Given the description of an element on the screen output the (x, y) to click on. 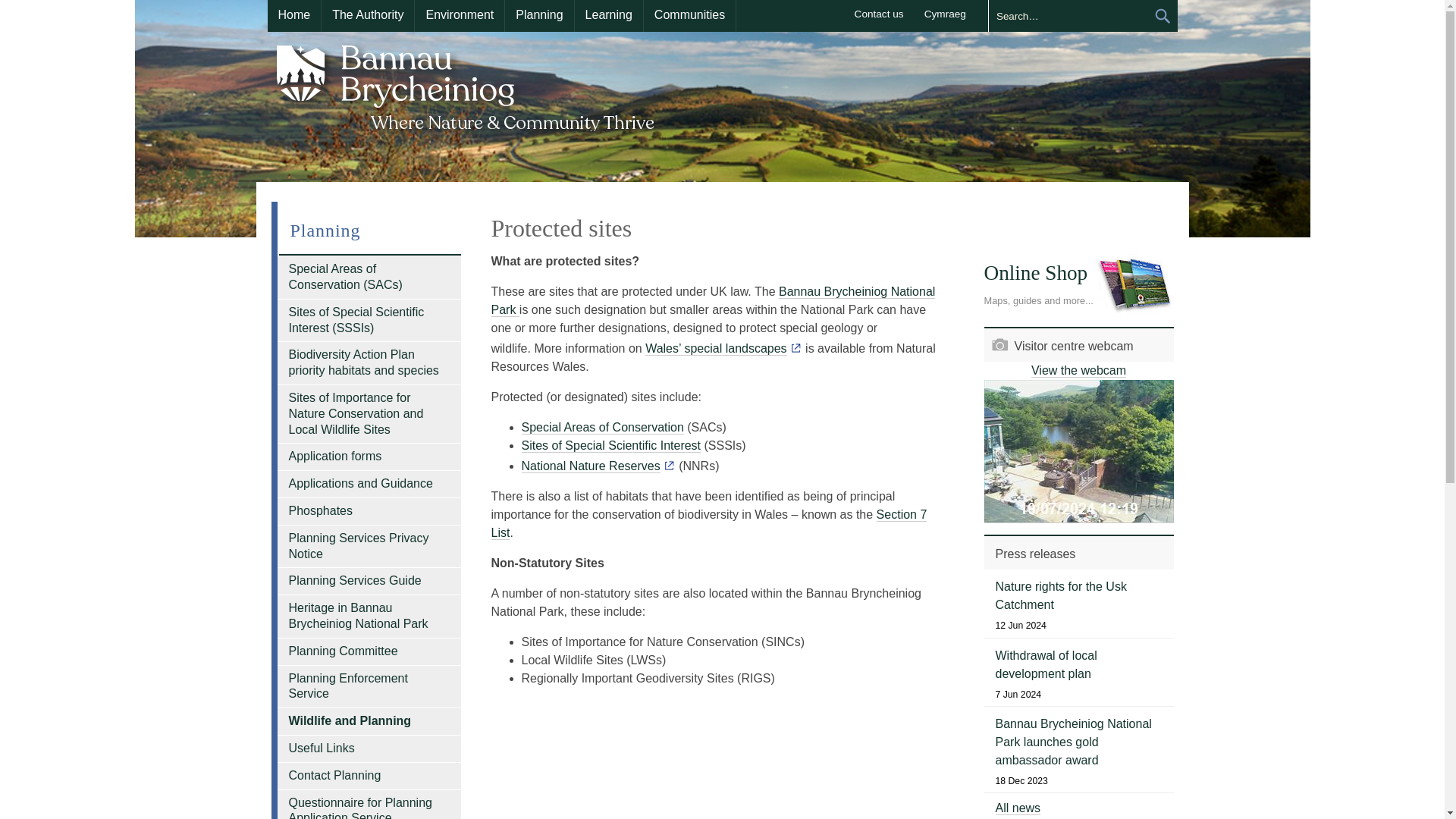
The Authority (367, 15)
Environment (458, 15)
Home (293, 15)
Brecon Beacons National Park homepage (465, 85)
Bannau Brycheiniog National Park Authority (465, 85)
